Given the description of an element on the screen output the (x, y) to click on. 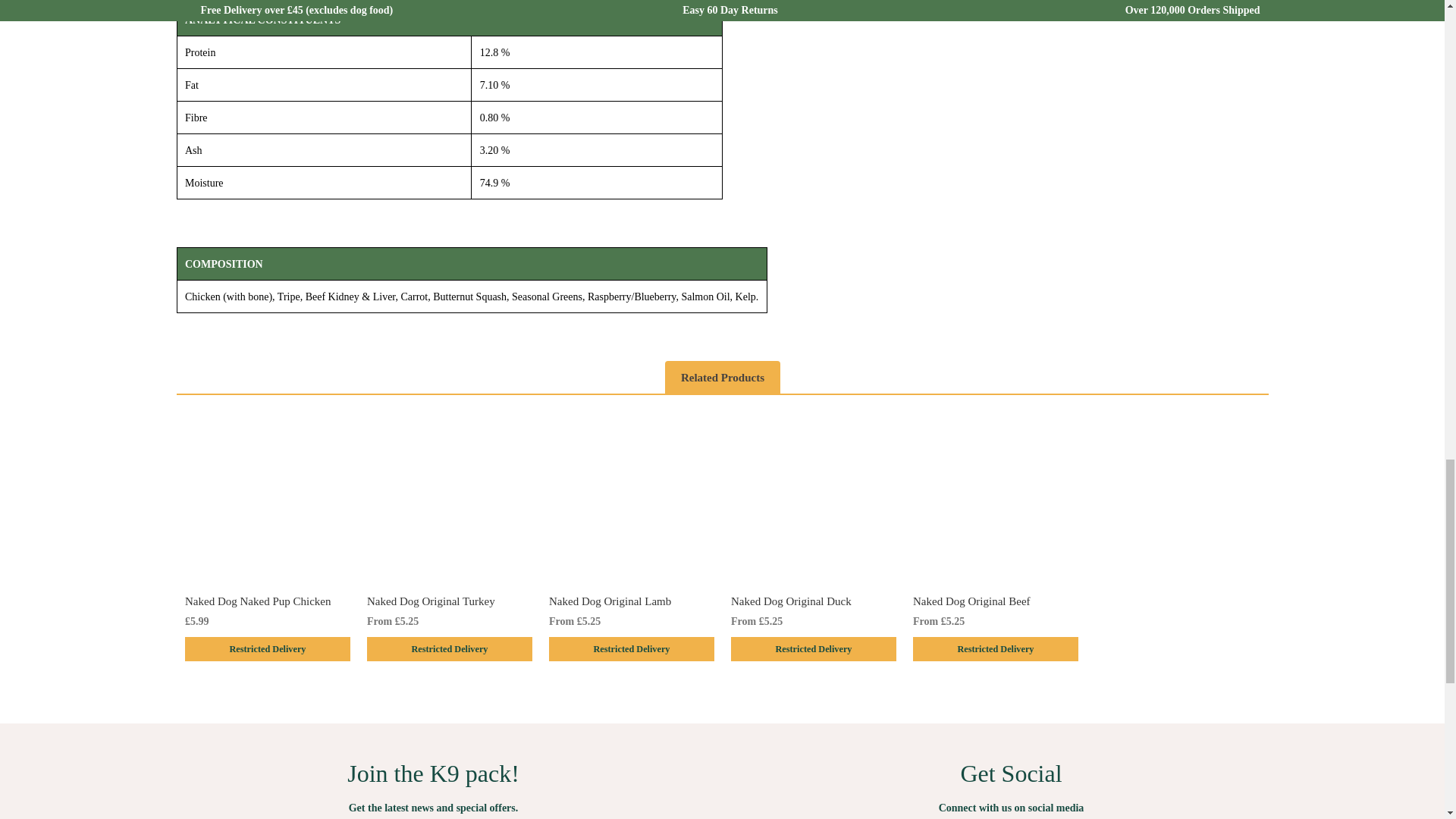
Naked Dog Original Turkey RAW Dog Food 2x500g Pack (449, 501)
Naked Pup Chicken RAW Dog Food 2x500g Pack (267, 501)
Naked Dog Original Lamb RAW Dog Food (631, 501)
